Given the description of an element on the screen output the (x, y) to click on. 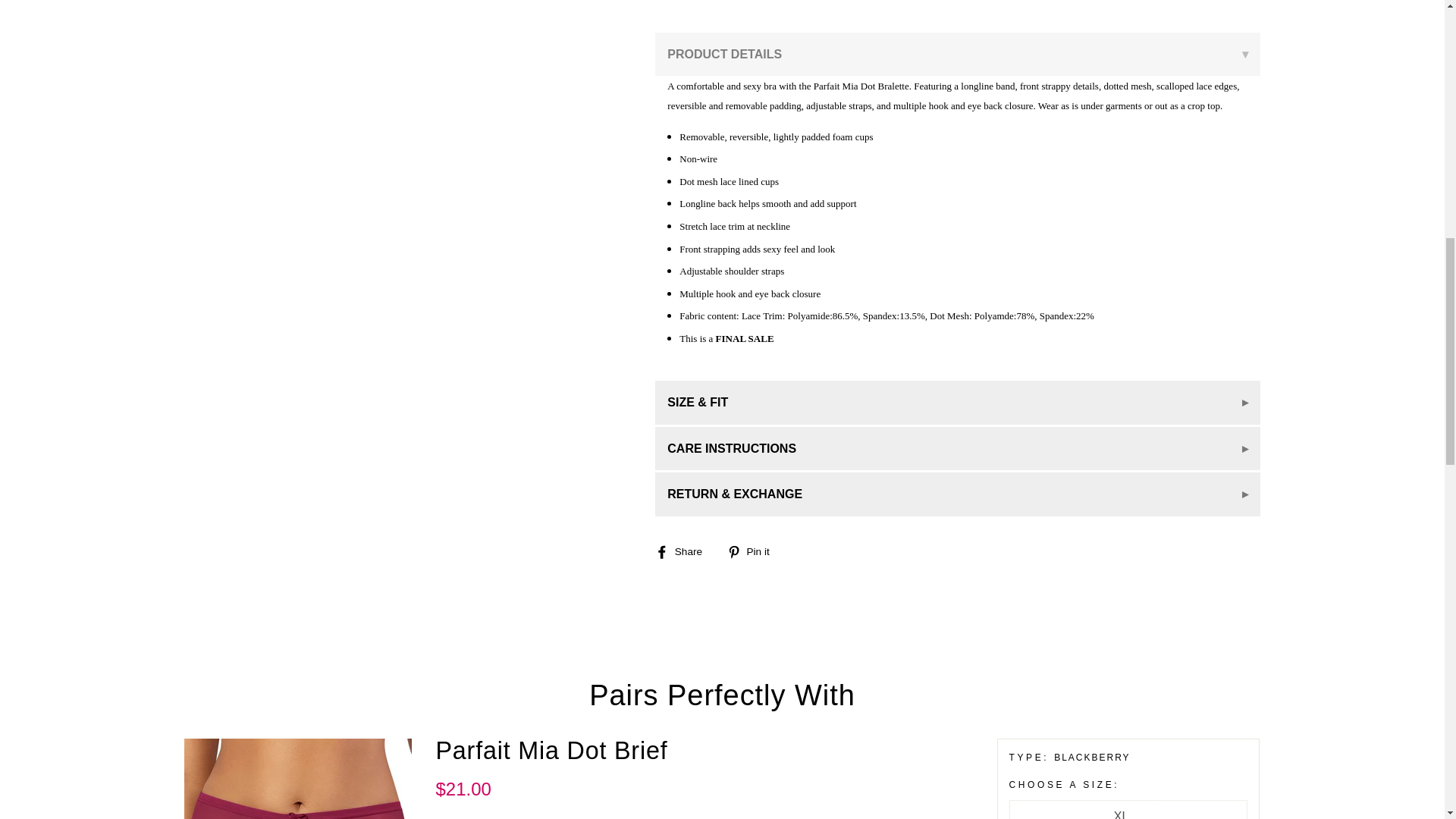
BLACKBERRY (1110, 757)
Pin on Pinterest (753, 551)
Share on Facebook (684, 551)
